Given the description of an element on the screen output the (x, y) to click on. 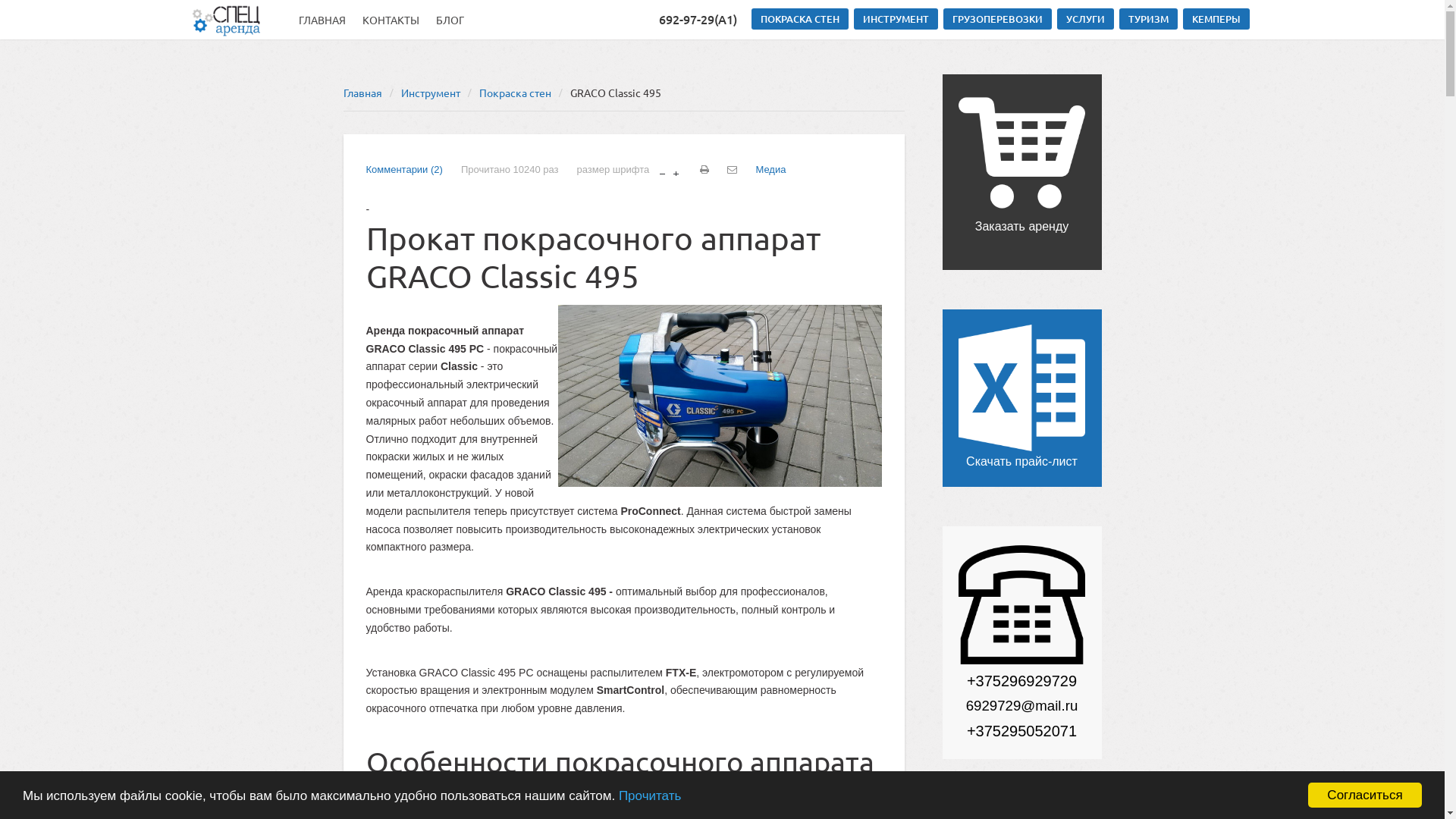
GRACO Classic 495 Element type: hover (719, 395)
+375295052071 Element type: text (1021, 730)
+375296929729 Element type: text (1021, 680)
6929729@mail.ru Element type: text (1022, 705)
